Given the description of an element on the screen output the (x, y) to click on. 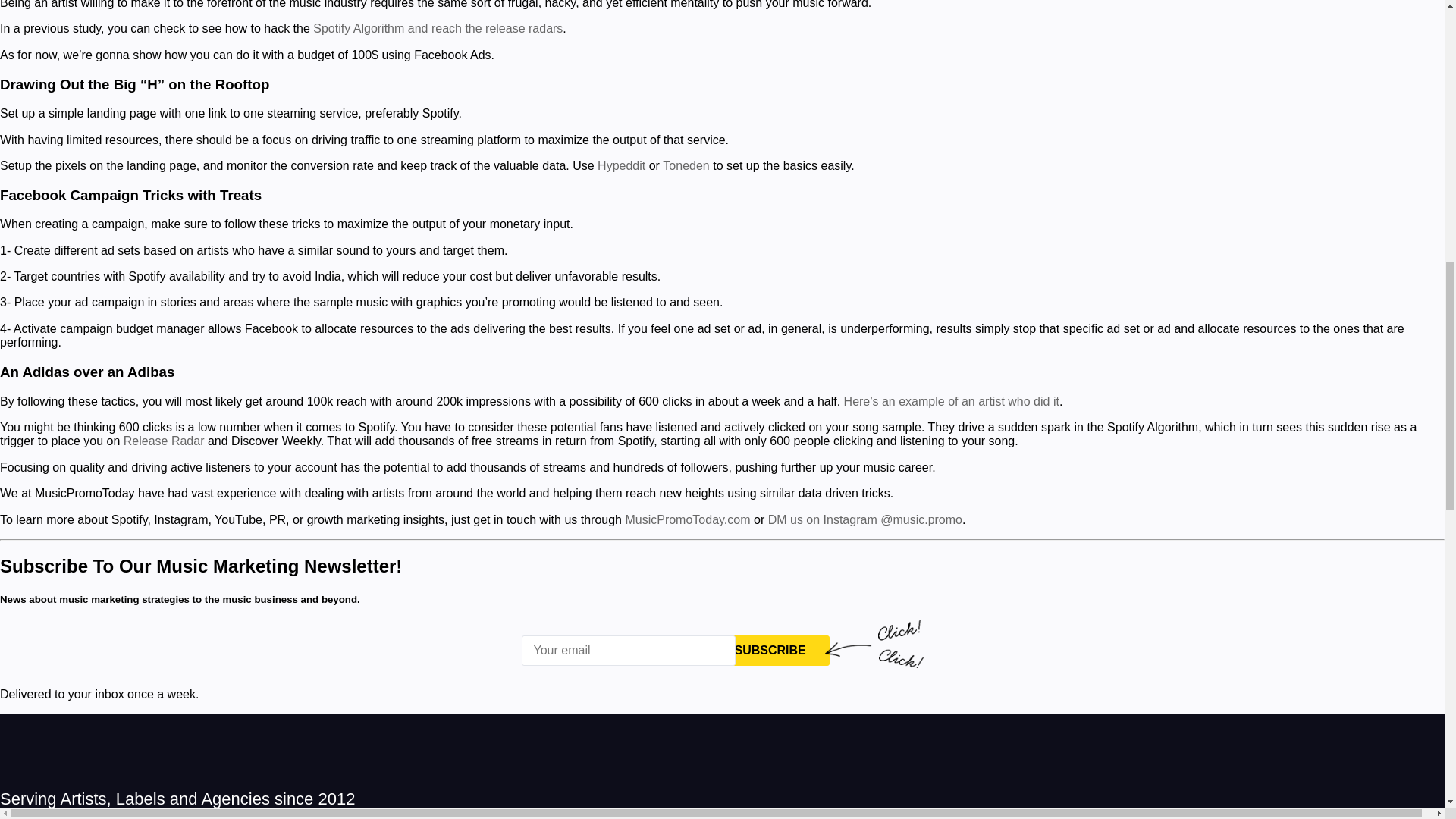
MusicPromoToday.com (686, 519)
SUBSCRIBE (770, 650)
Hypeddit (620, 164)
Release Radar (164, 440)
Spotify Algorithm and reach the release radars (437, 28)
SUBSCRIBE (770, 650)
Toneden (685, 164)
